Given the description of an element on the screen output the (x, y) to click on. 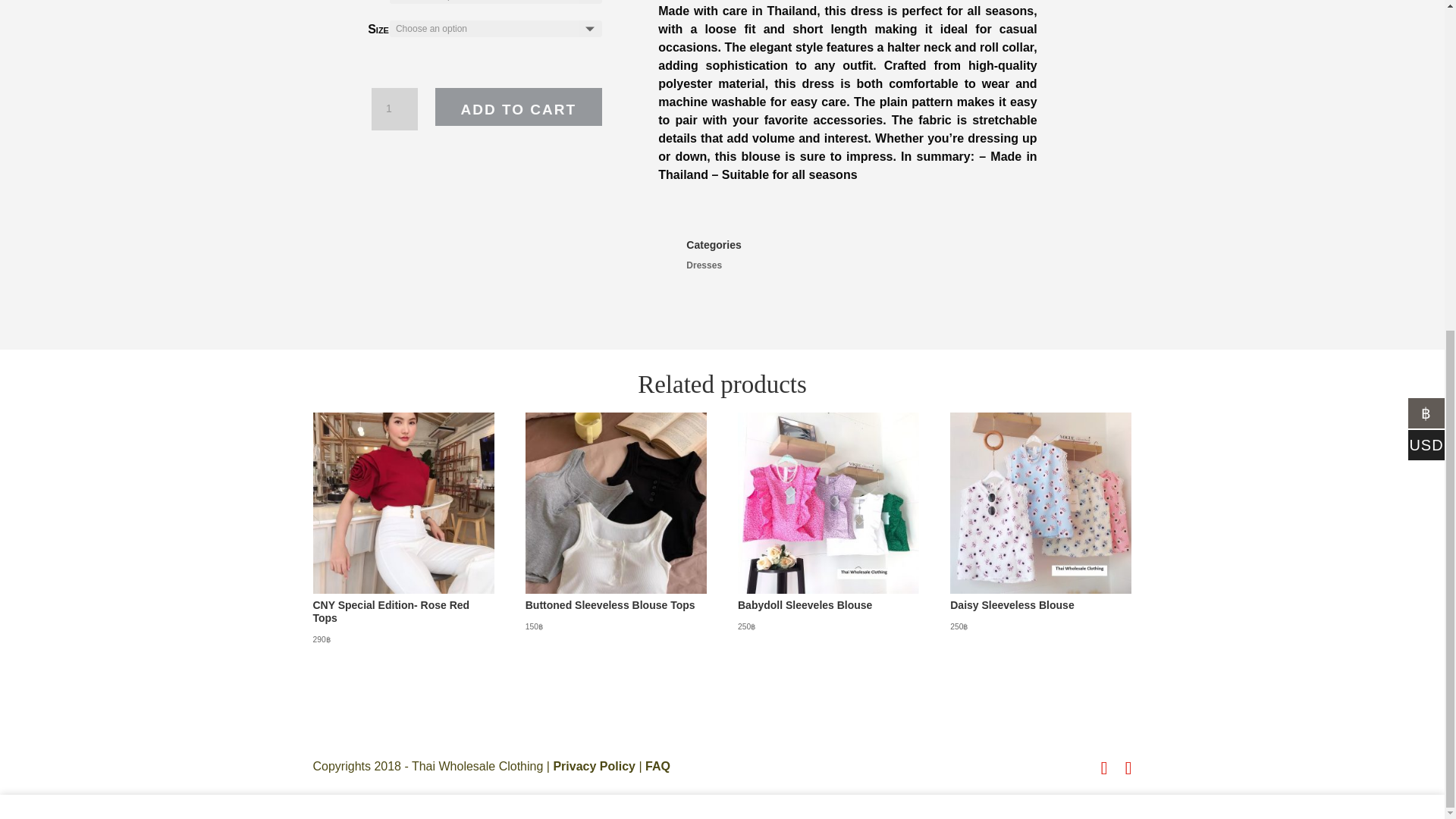
1 (393, 108)
ADD TO CART (518, 106)
